Given the description of an element on the screen output the (x, y) to click on. 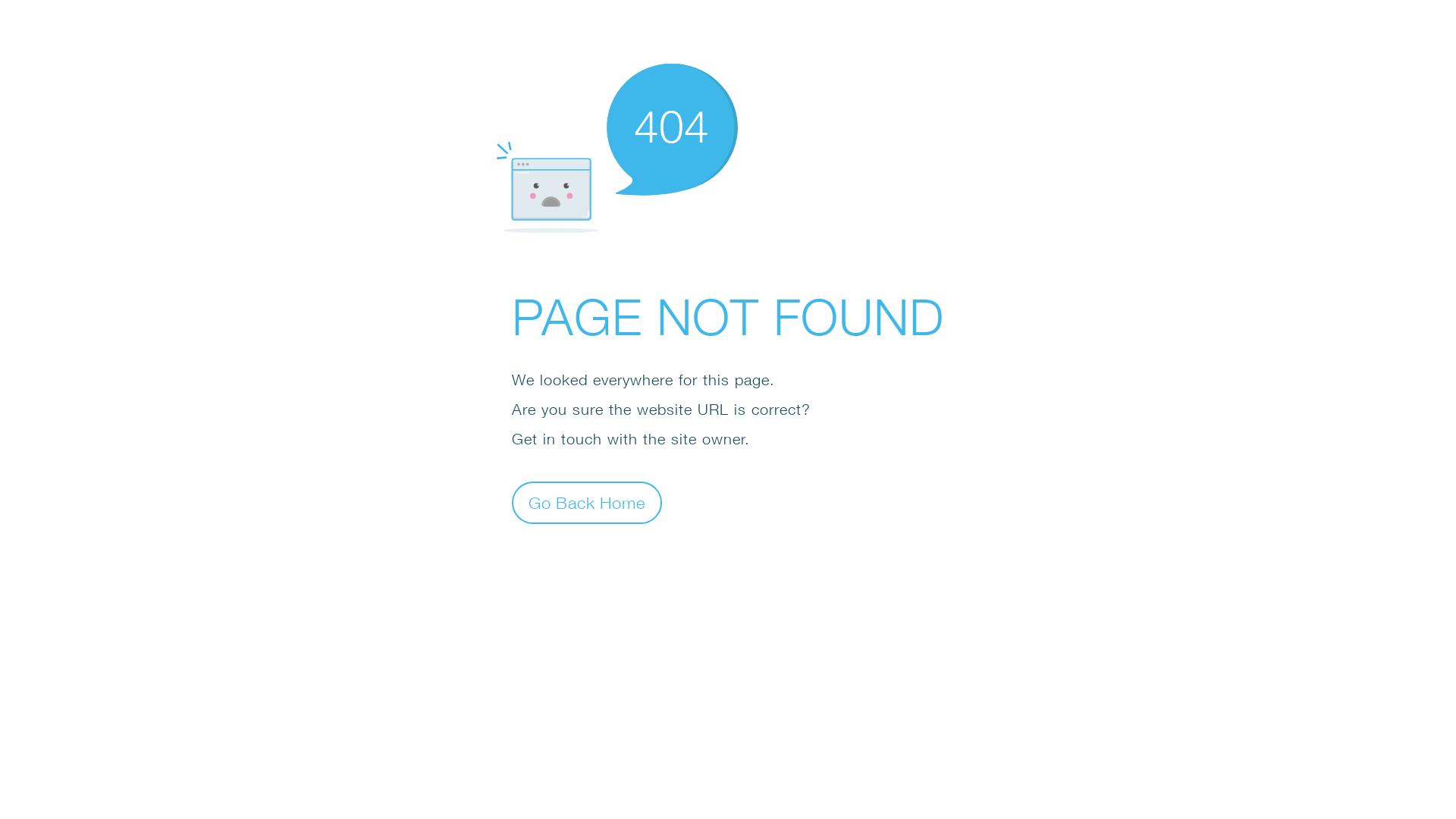
Go Back Home Element type: text (586, 502)
